Given the description of an element on the screen output the (x, y) to click on. 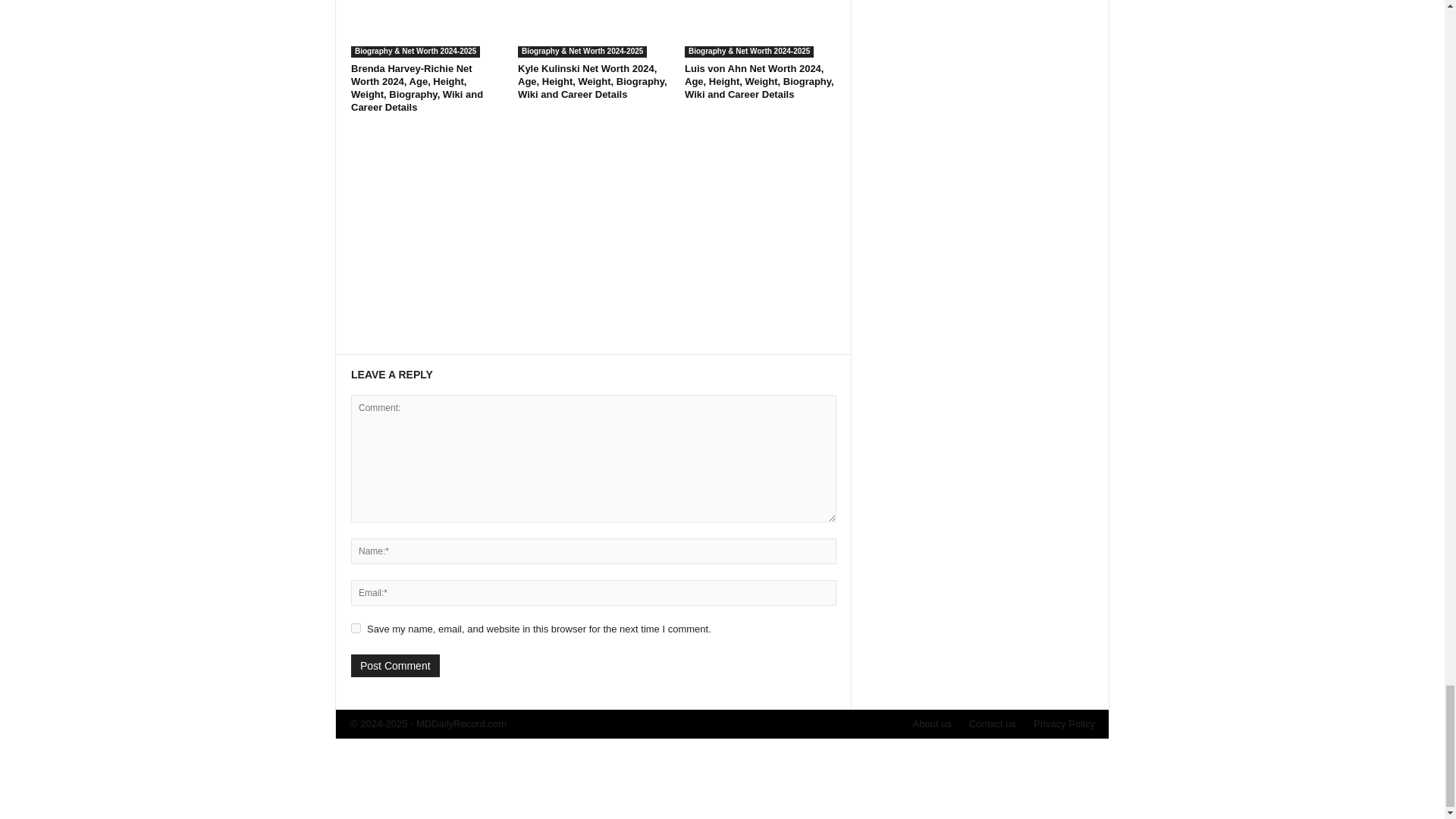
Post Comment (394, 665)
yes (355, 628)
